Given the description of an element on the screen output the (x, y) to click on. 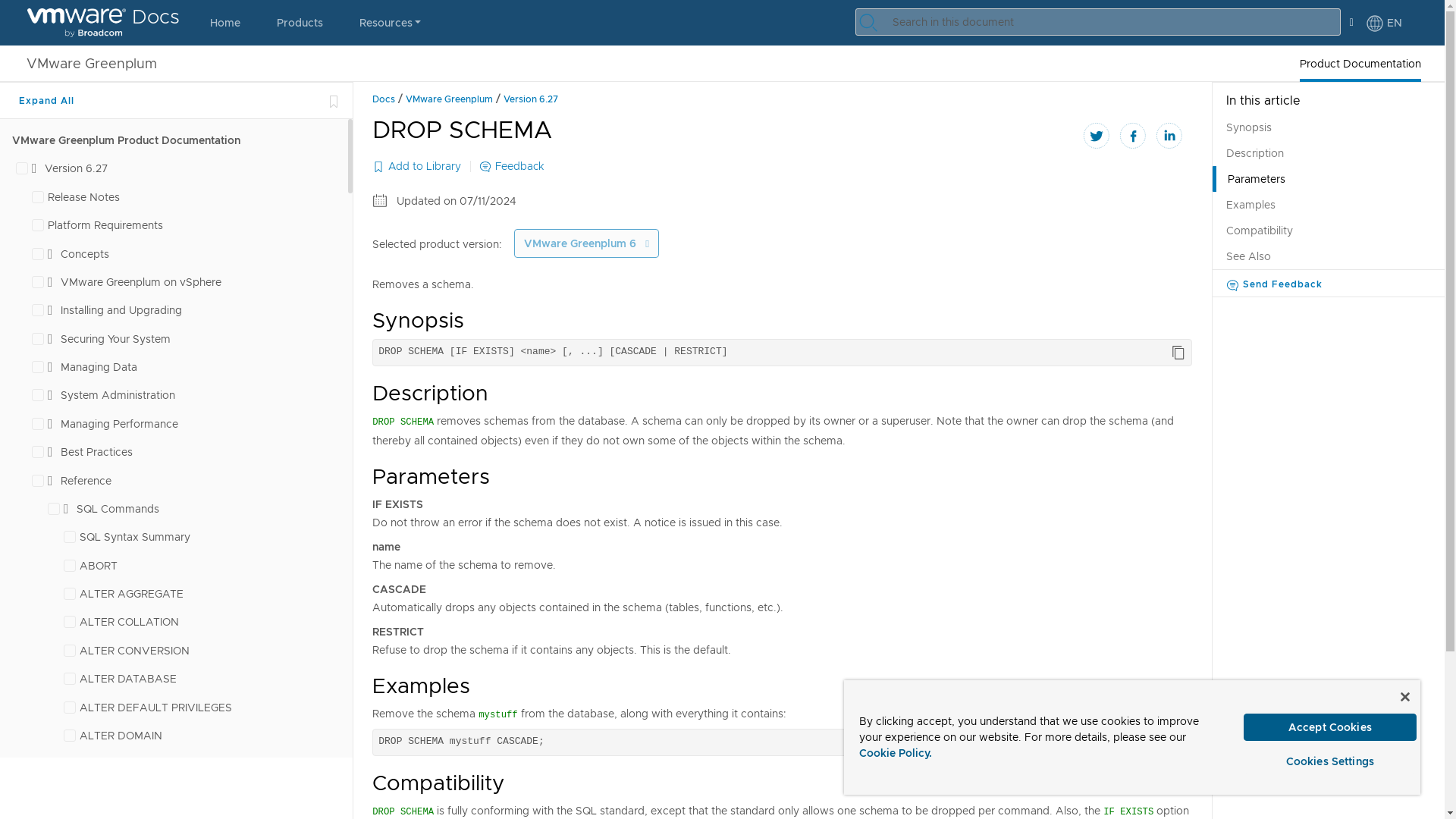
Home (225, 22)
Docs (103, 22)
Resources (389, 22)
Products (299, 22)
Add selected to MyLibrary (333, 100)
